Given the description of an element on the screen output the (x, y) to click on. 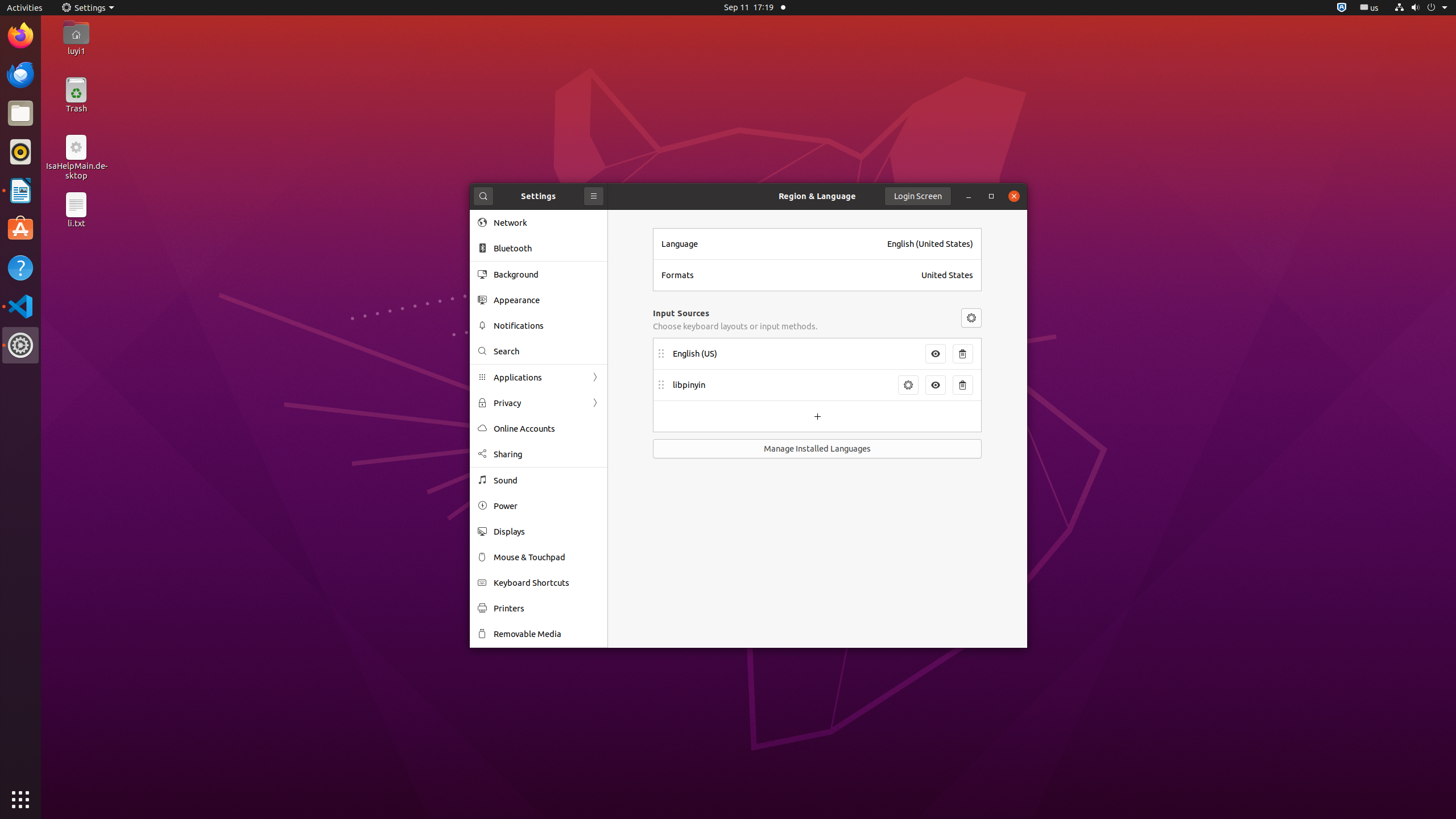
Appearance Element type: label (546, 299)
Trash Element type: label (75, 108)
Choose keyboard layouts or input methods. Element type: label (734, 326)
Firefox Web Browser Element type: push-button (20, 35)
